Given the description of an element on the screen output the (x, y) to click on. 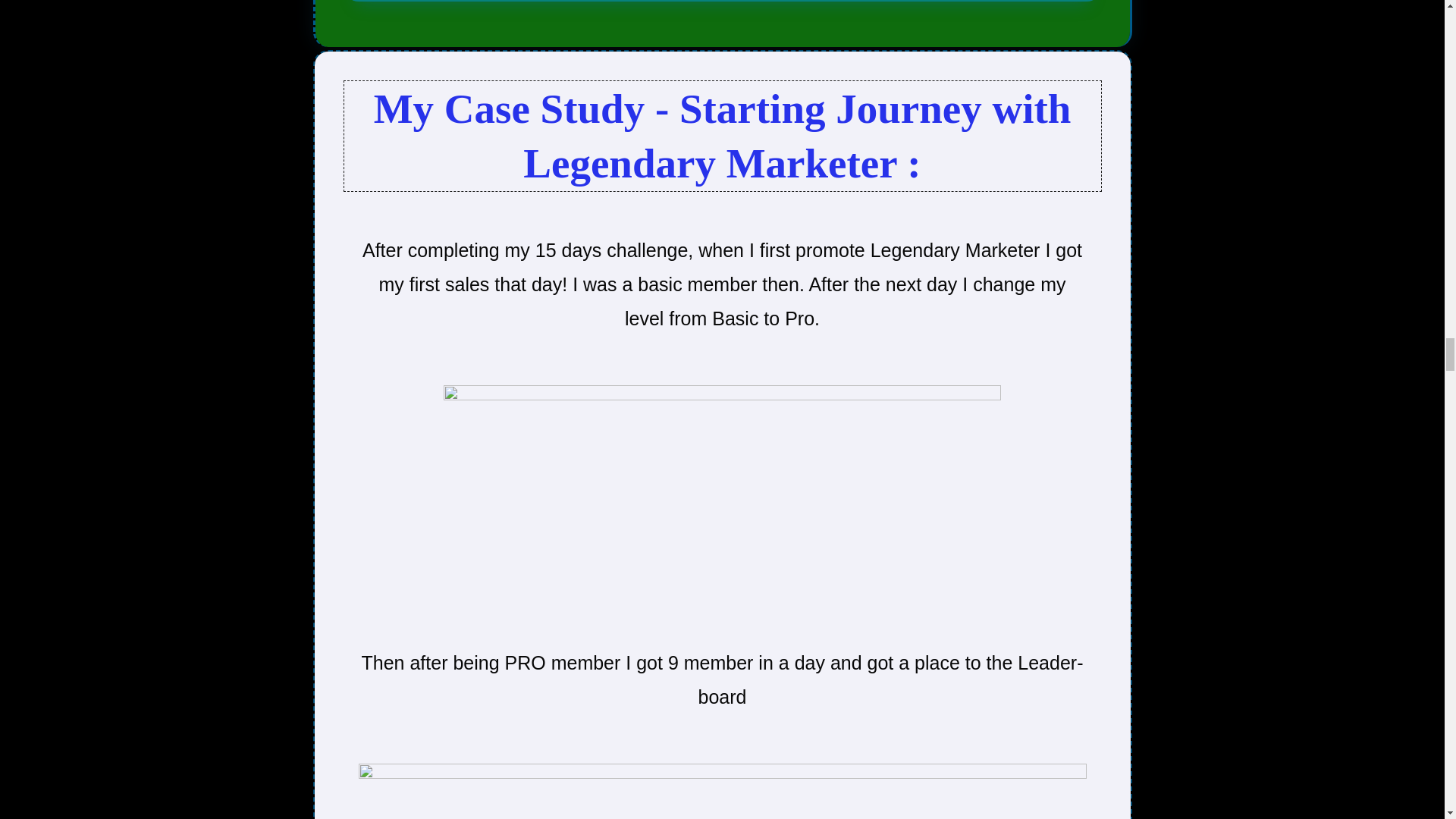
Legendary-Marketer2 (722, 791)
sc-768x311 (722, 497)
